Given the description of an element on the screen output the (x, y) to click on. 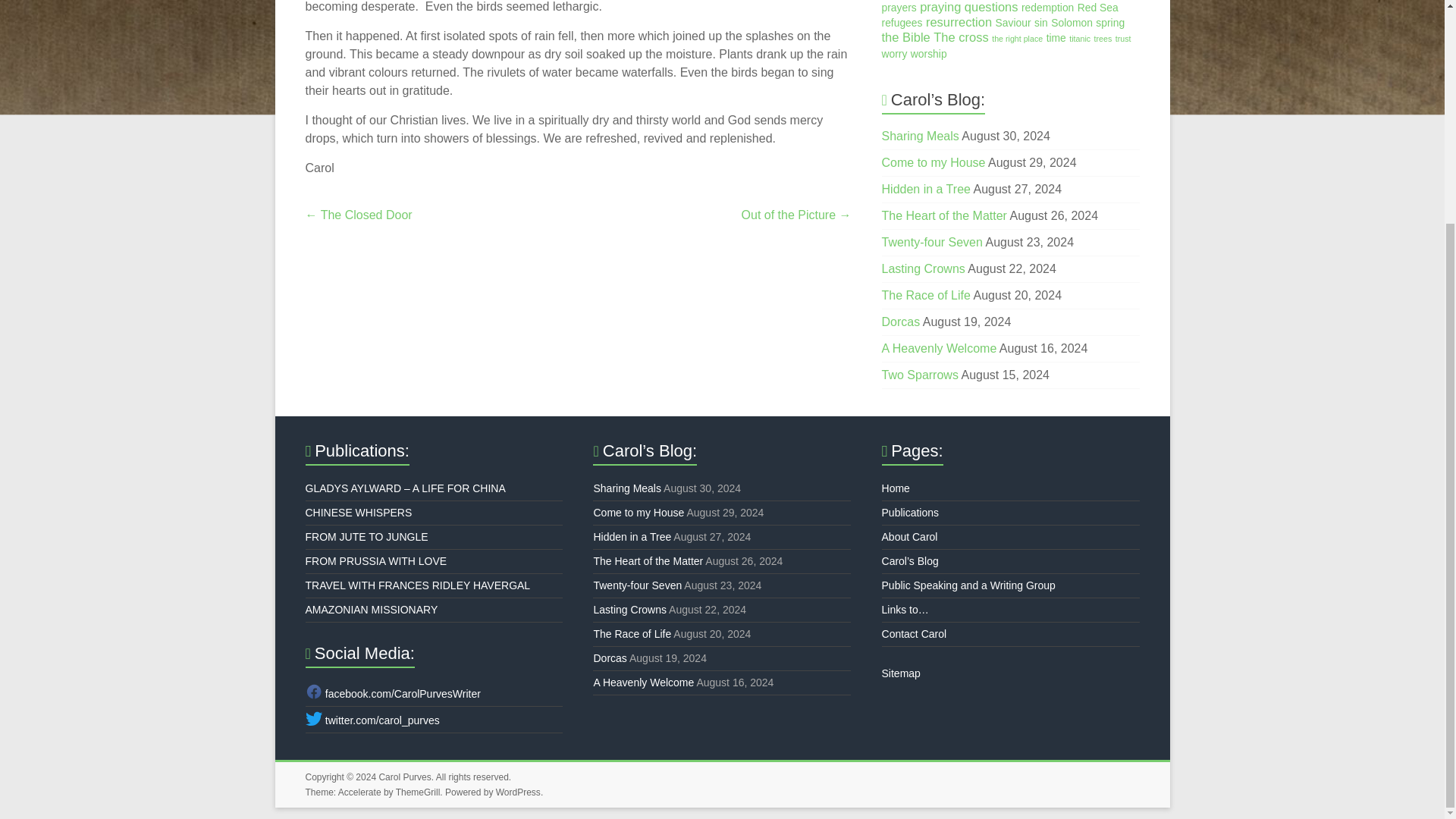
Carol Purves (404, 777)
Accelerate (359, 792)
WordPress (518, 792)
